Given the description of an element on the screen output the (x, y) to click on. 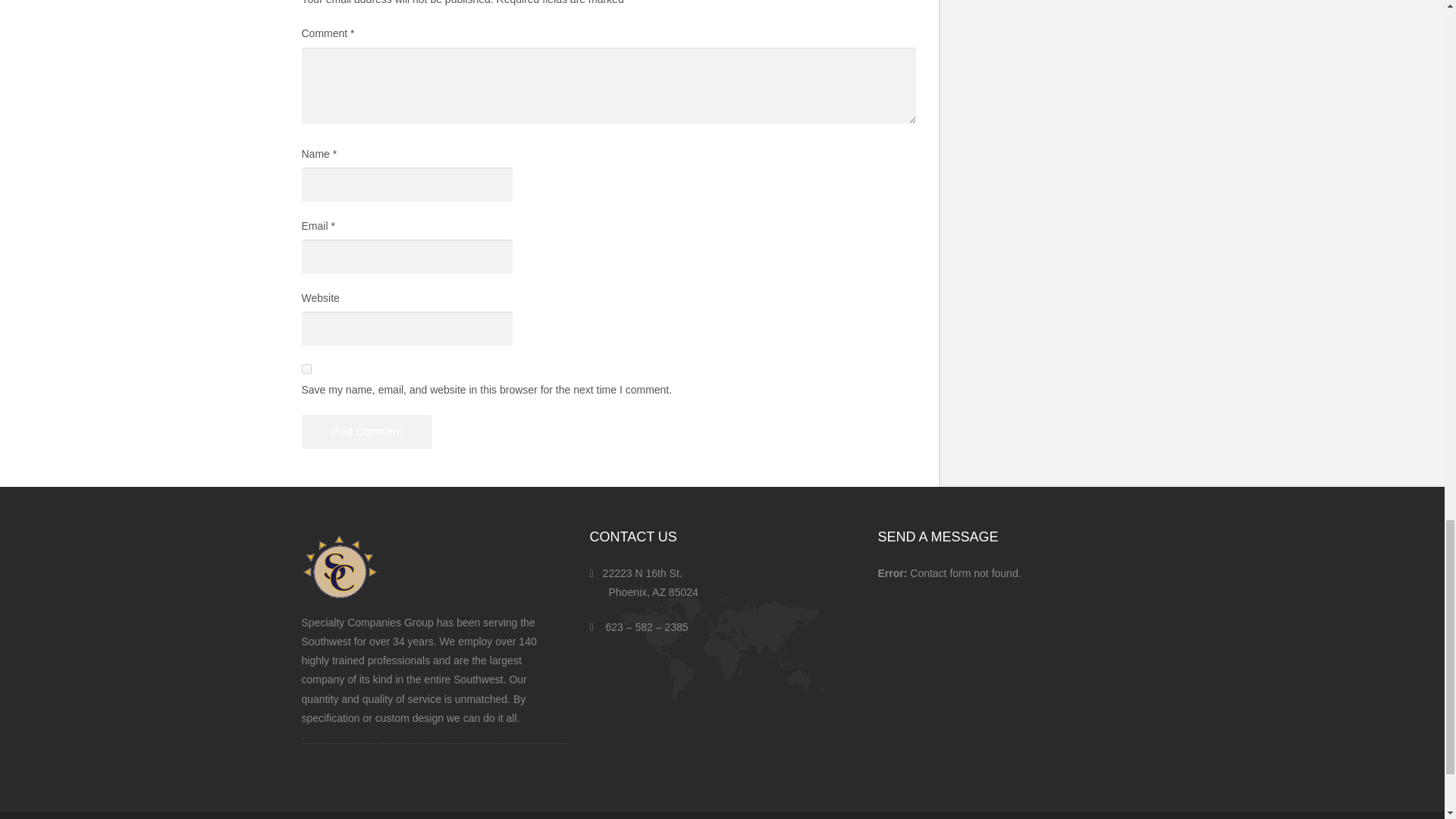
Post Comment (366, 431)
Post Comment (366, 431)
yes (306, 368)
